Given the description of an element on the screen output the (x, y) to click on. 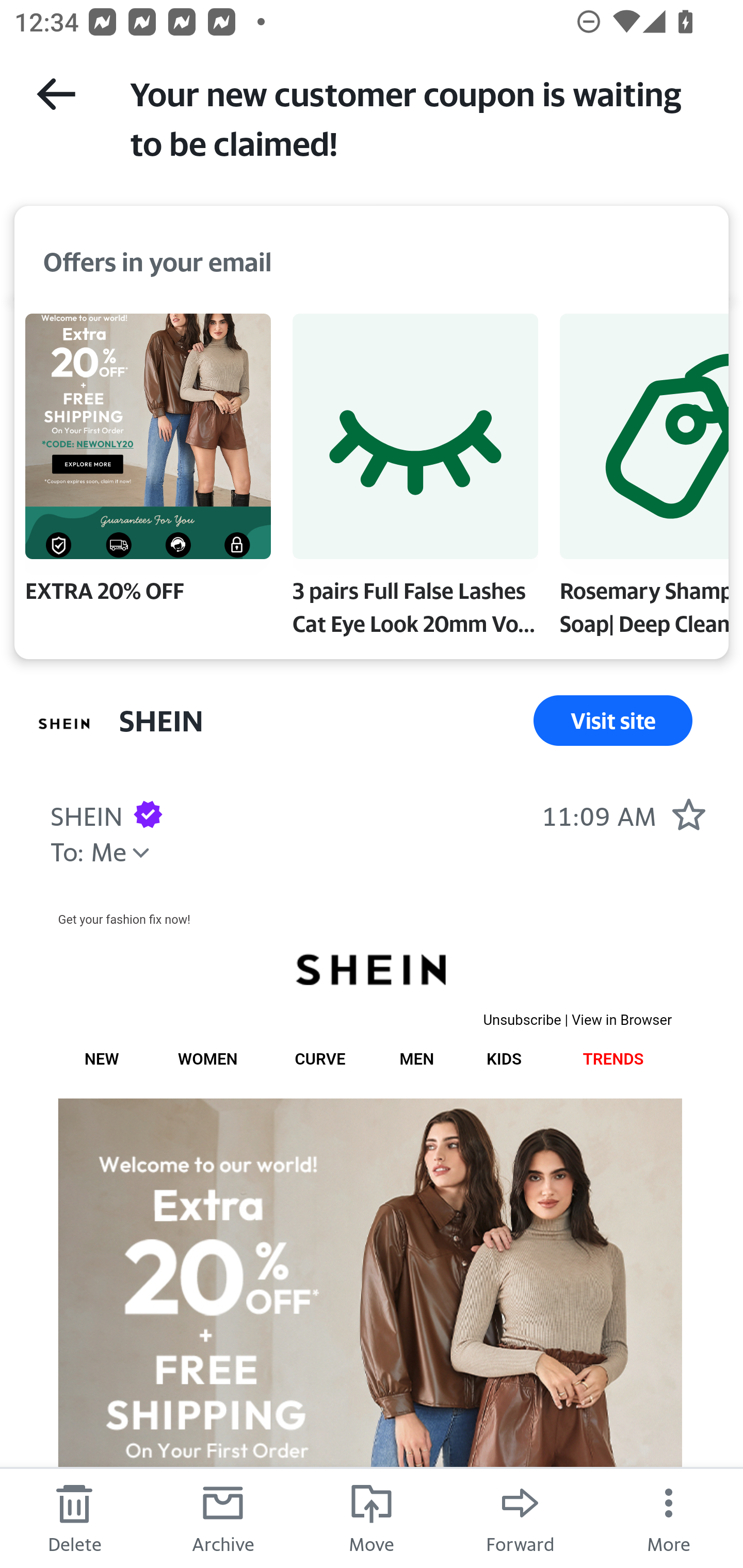
Back (55, 93)
Your new customer coupon is waiting to be claimed! (418, 116)
EXTRA 20% OFF (147, 462)
View all messages from sender (64, 723)
Visit site Visit Site Link (612, 720)
SHEIN Sender SHEIN (160, 720)
SHEIN Sender SHEIN (86, 814)
Mark as starred. (688, 814)
Get your fashion fix now! (123, 919)
SHEIN (369, 969)
Unsubscribe (521, 1019)
View in Browser (622, 1019)
NEW (100, 1058)
WOMEN (207, 1058)
CURVE (319, 1058)
MEN (415, 1058)
KIDS (503, 1058)
TRENDS (612, 1058)
EXTRA 20% OFF (369, 1332)
Delete (74, 1517)
Archive (222, 1517)
Move (371, 1517)
Forward (519, 1517)
More (668, 1517)
